Given the description of an element on the screen output the (x, y) to click on. 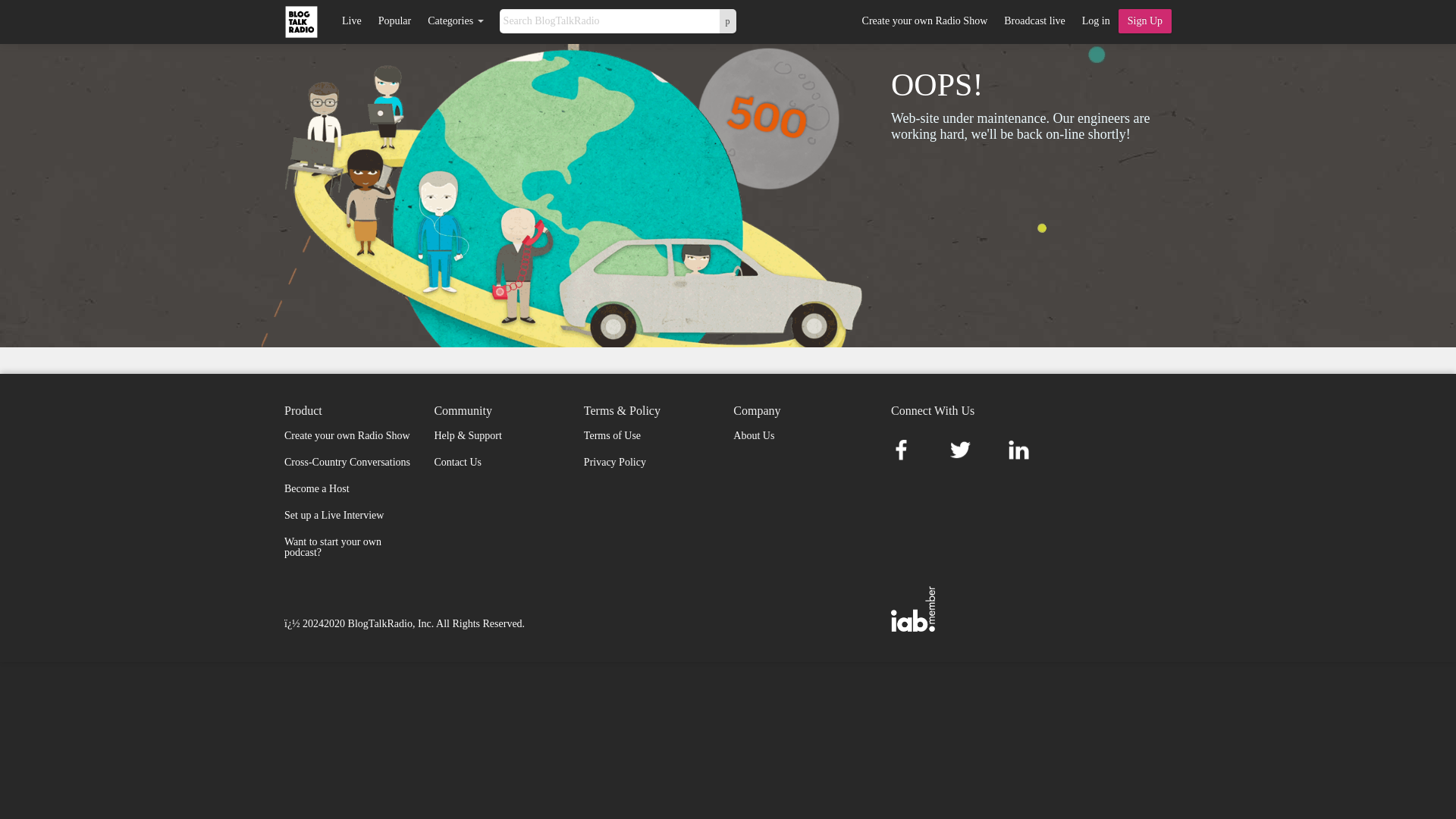
Create your own Radio Show (924, 20)
Log in (1096, 20)
Popular (394, 20)
Live (351, 20)
Create My Talk Show (1145, 21)
Categories (455, 20)
Broadcast live (1034, 20)
Sign Up (1145, 21)
